Given the description of an element on the screen output the (x, y) to click on. 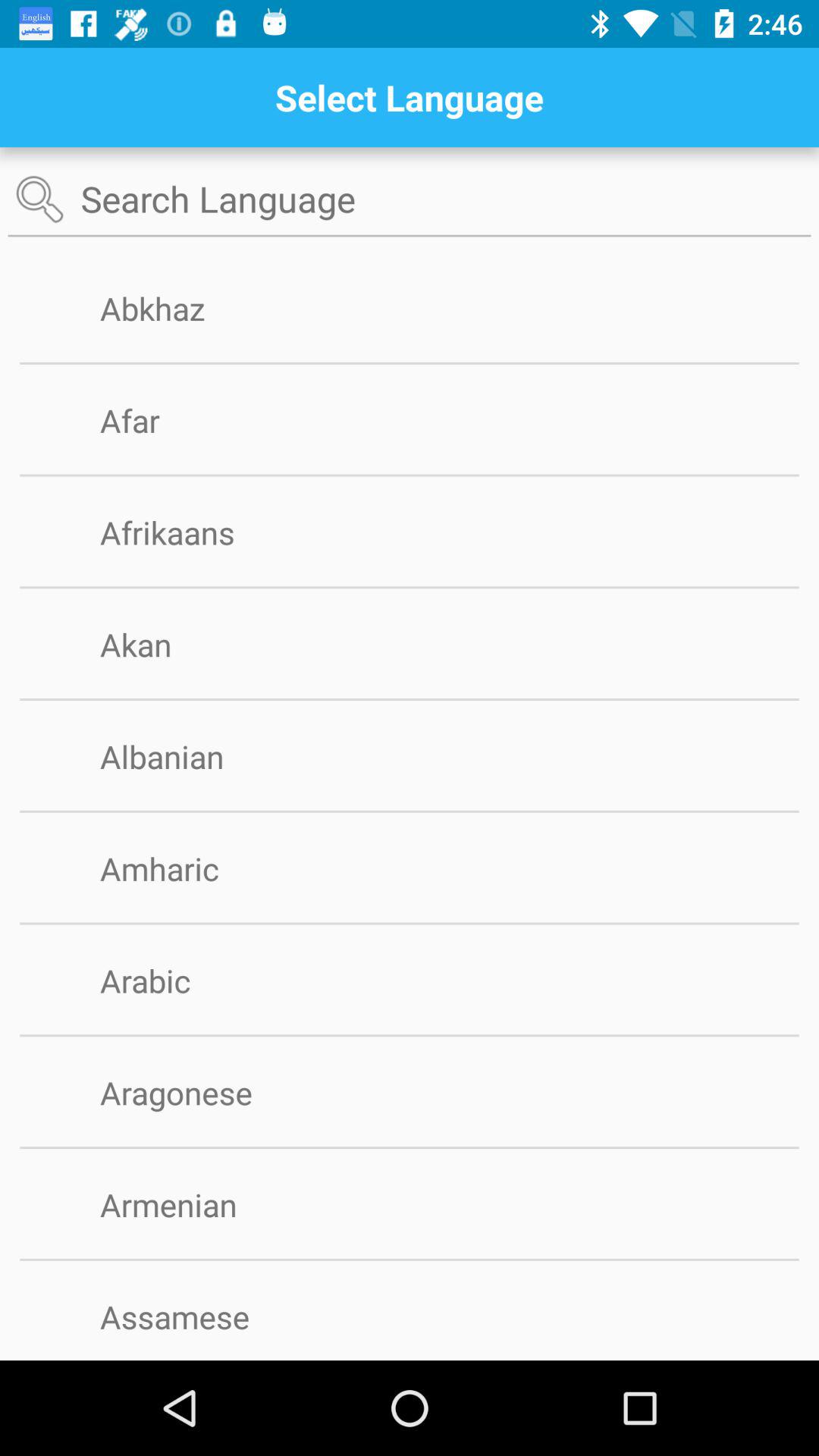
click the app below the arabic icon (409, 1035)
